Given the description of an element on the screen output the (x, y) to click on. 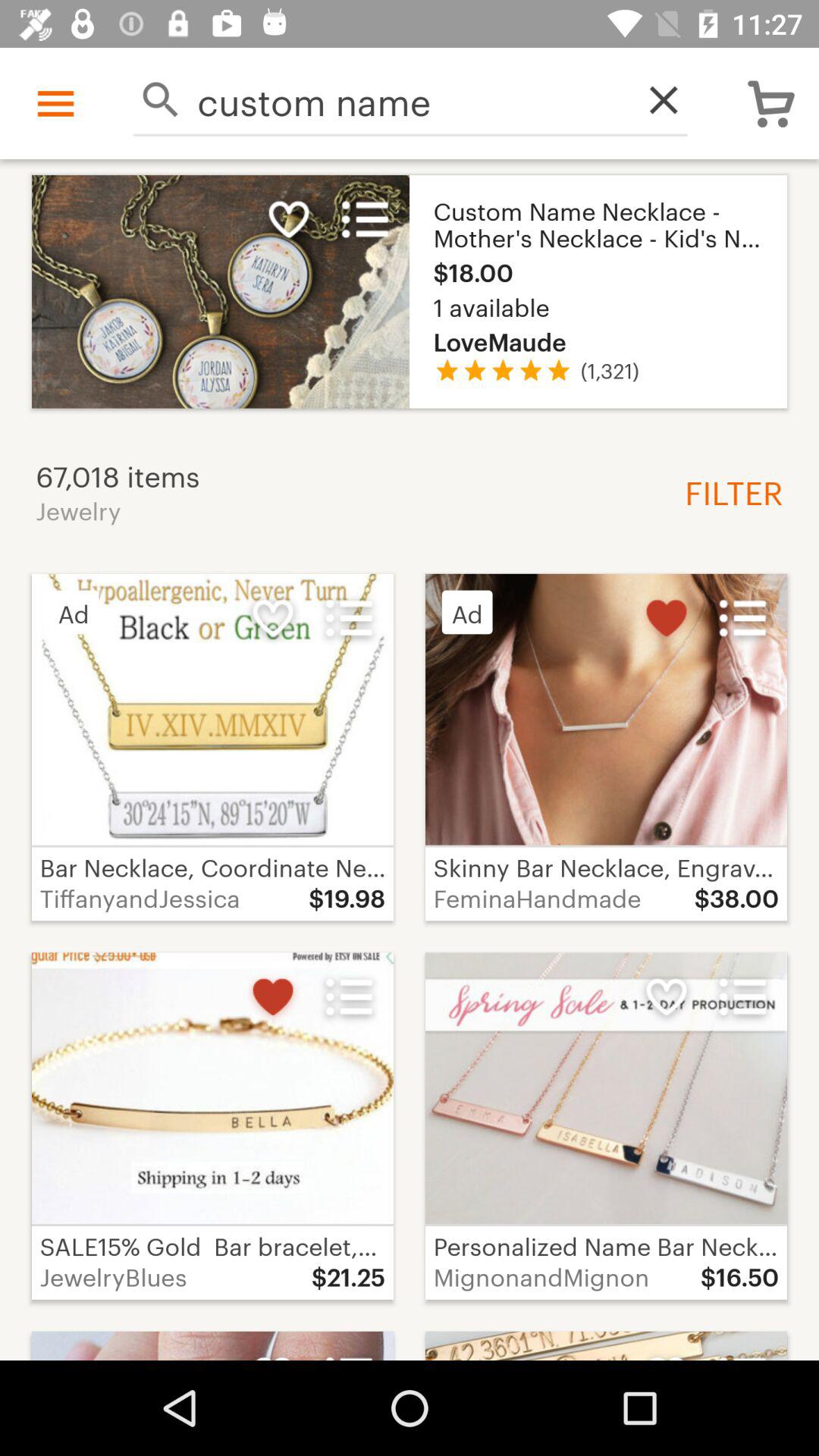
press item next to the custom name icon (655, 99)
